Given the description of an element on the screen output the (x, y) to click on. 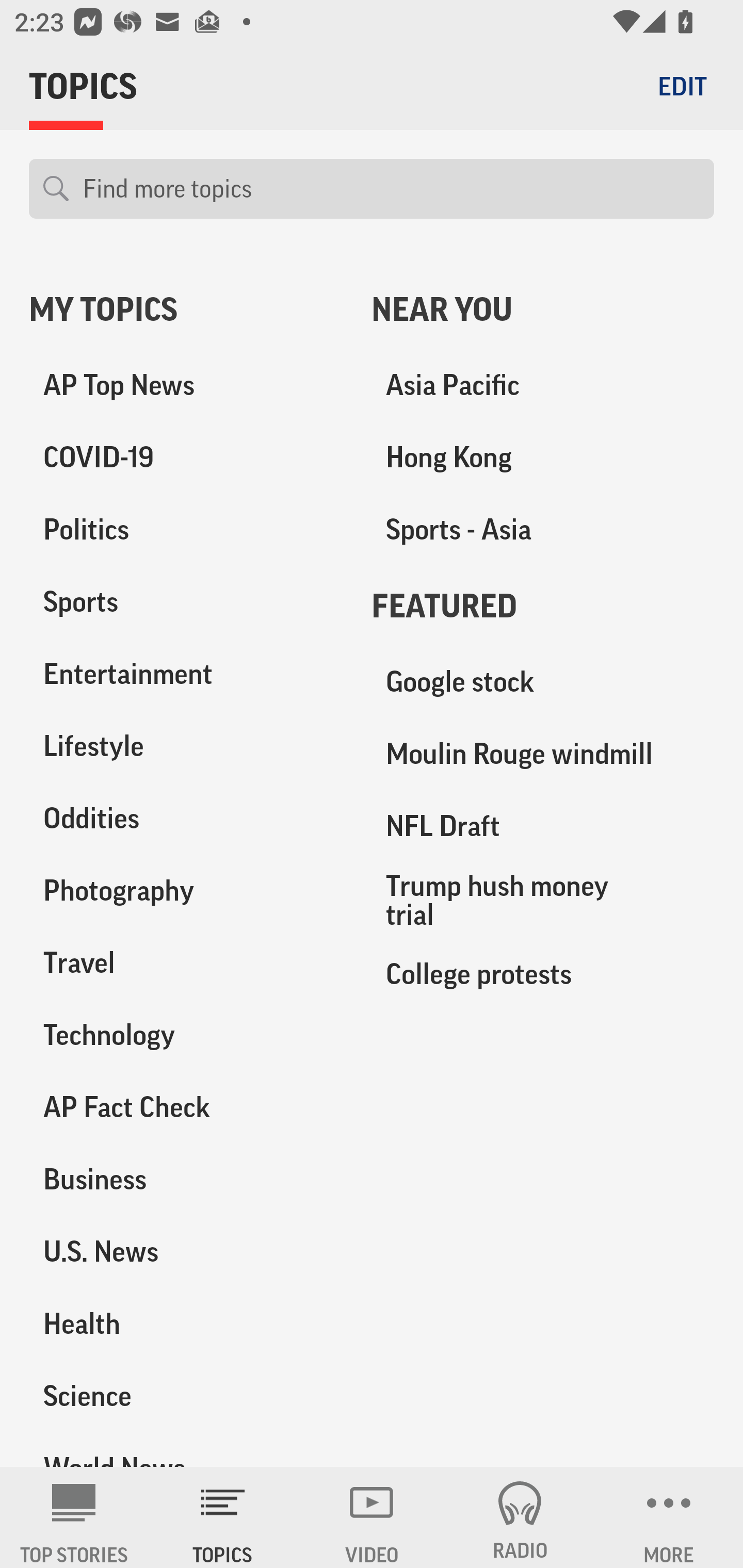
EDIT (682, 86)
Find more topics (391, 188)
AP Top News (185, 385)
Asia Pacific (542, 385)
COVID-19 (185, 457)
Hong Kong (542, 457)
Politics (185, 529)
Sports - Asia (542, 529)
Sports (185, 602)
Entertainment (185, 674)
Google stock (542, 682)
Lifestyle (185, 746)
Moulin Rouge windmill (542, 754)
Oddities (185, 818)
NFL Draft (542, 826)
Photography (185, 890)
Trump hush money trial (542, 899)
Travel (185, 962)
College protests (542, 973)
Technology (185, 1034)
AP Fact Check (185, 1106)
Business (185, 1179)
U.S. News (185, 1251)
Health (185, 1323)
Science (185, 1395)
AP News TOP STORIES (74, 1517)
TOPICS (222, 1517)
VIDEO (371, 1517)
RADIO (519, 1517)
MORE (668, 1517)
